Given the description of an element on the screen output the (x, y) to click on. 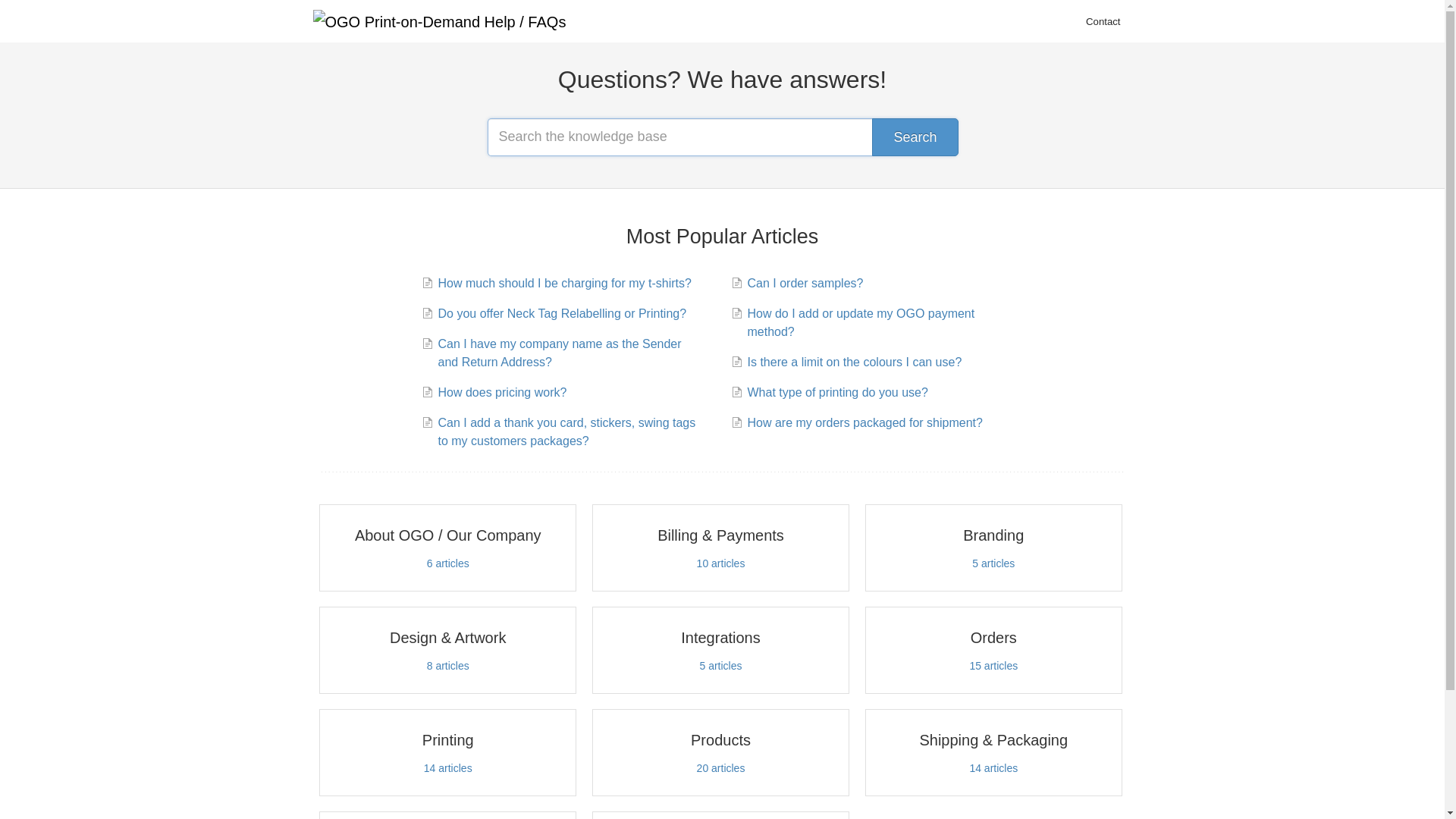
How are my orders packaged for shipment? Element type: text (862, 423)
Can I order samples? Element type: text (803, 283)
Printing
14 articles Element type: text (447, 752)
Orders
15 articles Element type: text (993, 649)
Design & Artwork
8 articles Element type: text (447, 649)
Integrations
5 articles Element type: text (720, 649)
About OGO / Our Company
6 articles Element type: text (447, 547)
How do I add or update my OGO payment method? Element type: text (876, 322)
search-query Element type: hover (721, 137)
Do you offer Neck Tag Relabelling or Printing? Element type: text (559, 313)
Search Element type: text (914, 137)
Is there a limit on the colours I can use? Element type: text (852, 362)
Can I have my company name as the Sender and Return Address? Element type: text (566, 353)
How much should I be charging for my t-shirts? Element type: text (562, 283)
How does pricing work? Element type: text (499, 392)
Billing & Payments
10 articles Element type: text (720, 547)
Products
20 articles Element type: text (720, 752)
Contact Element type: text (1102, 21)
Branding
5 articles Element type: text (993, 547)
Shipping & Packaging
14 articles Element type: text (993, 752)
What type of printing do you use? Element type: text (835, 392)
